Given the description of an element on the screen output the (x, y) to click on. 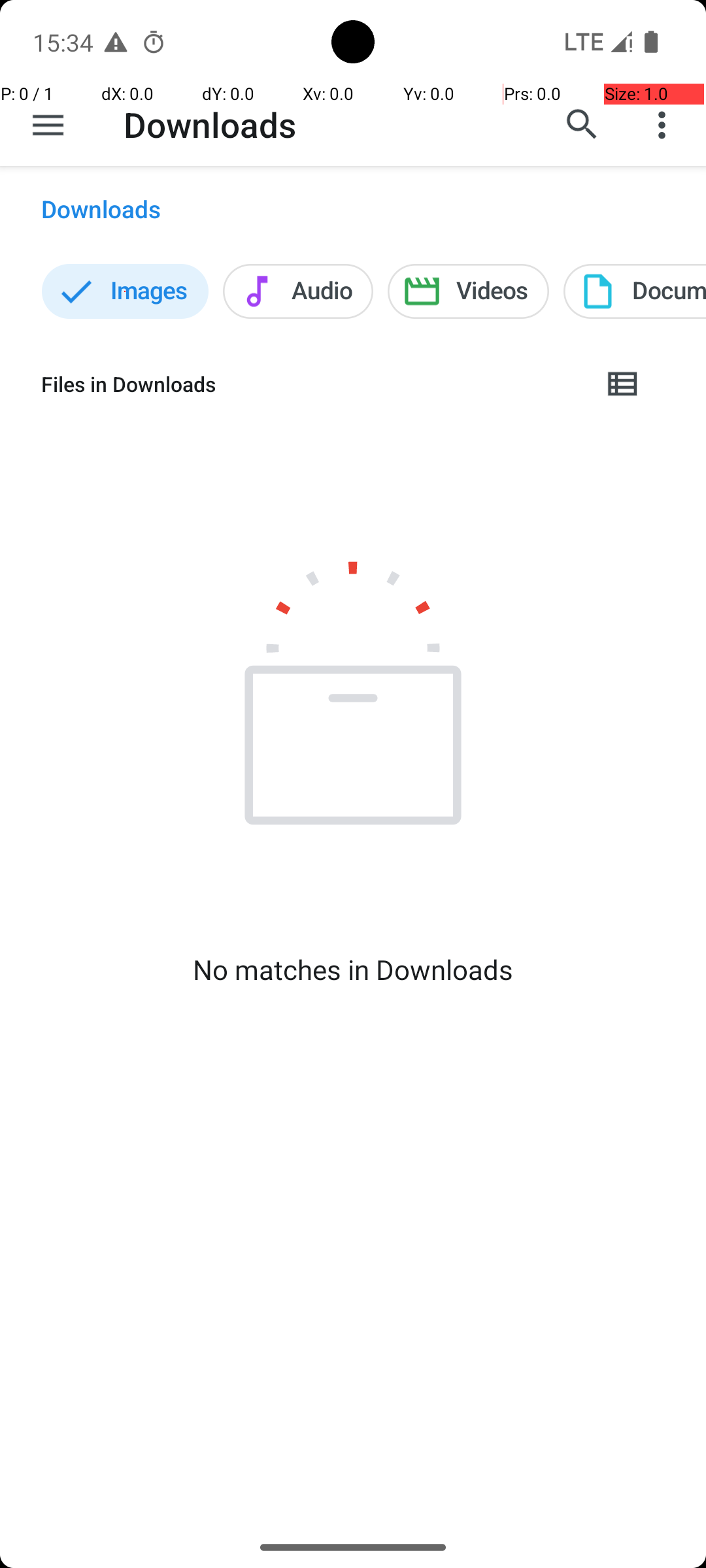
No matches in Downloads Element type: android.widget.TextView (352, 968)
